Given the description of an element on the screen output the (x, y) to click on. 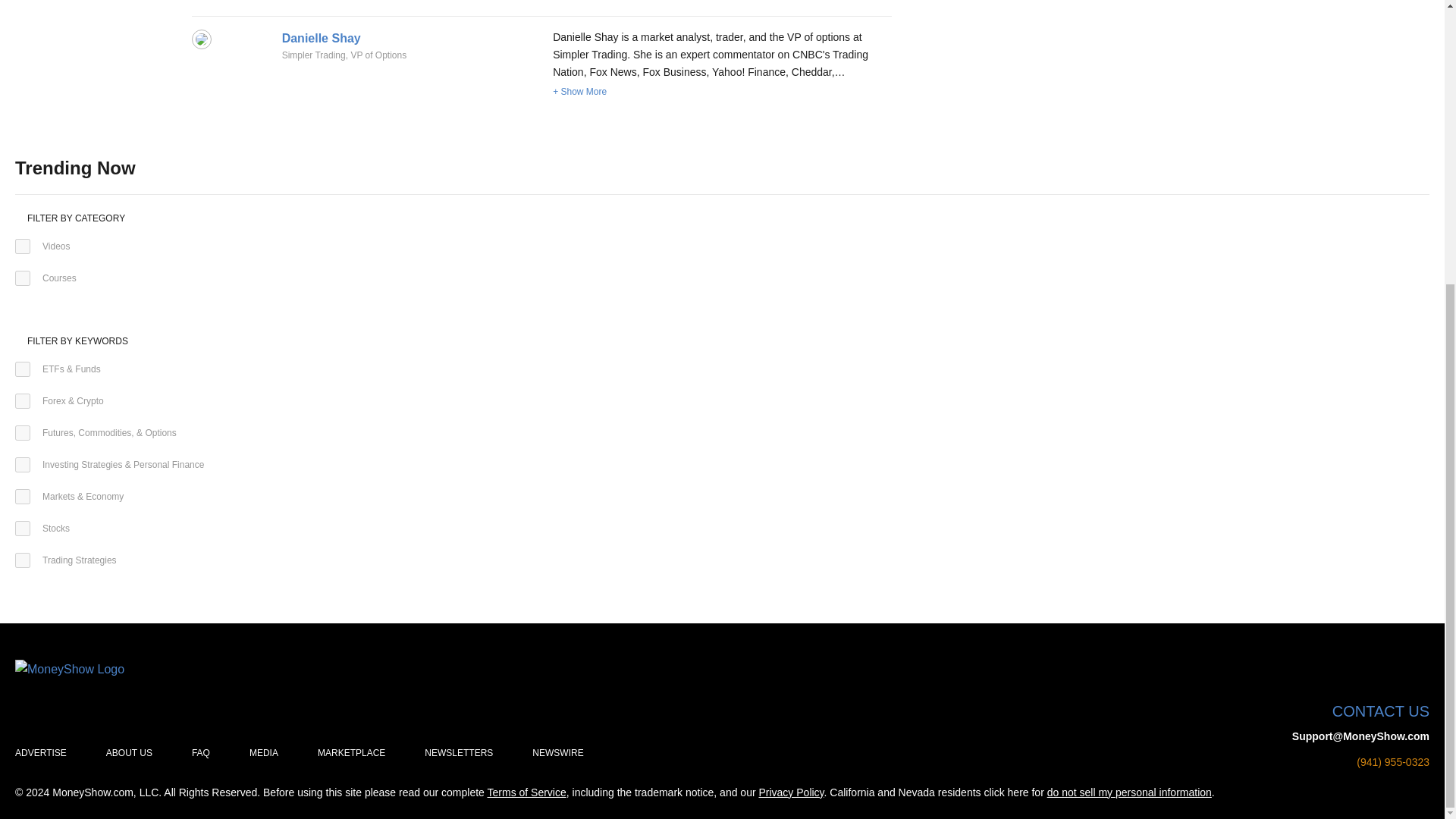
Danielle Shay (321, 38)
Trading Strategies (22, 560)
Videos (22, 246)
Stocks (22, 528)
Courses (22, 278)
